Given the description of an element on the screen output the (x, y) to click on. 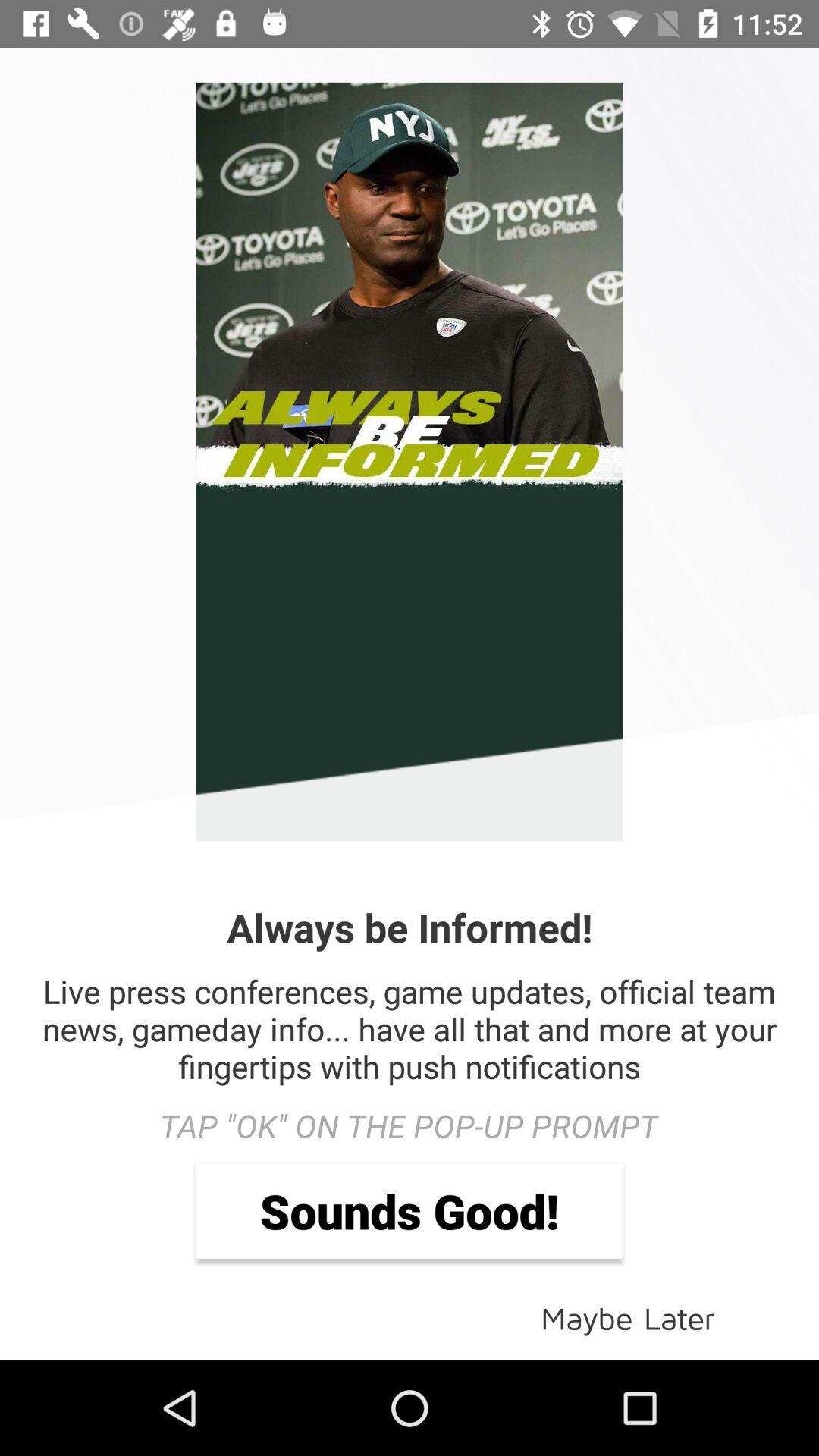
click the maybe later icon (627, 1317)
